Given the description of an element on the screen output the (x, y) to click on. 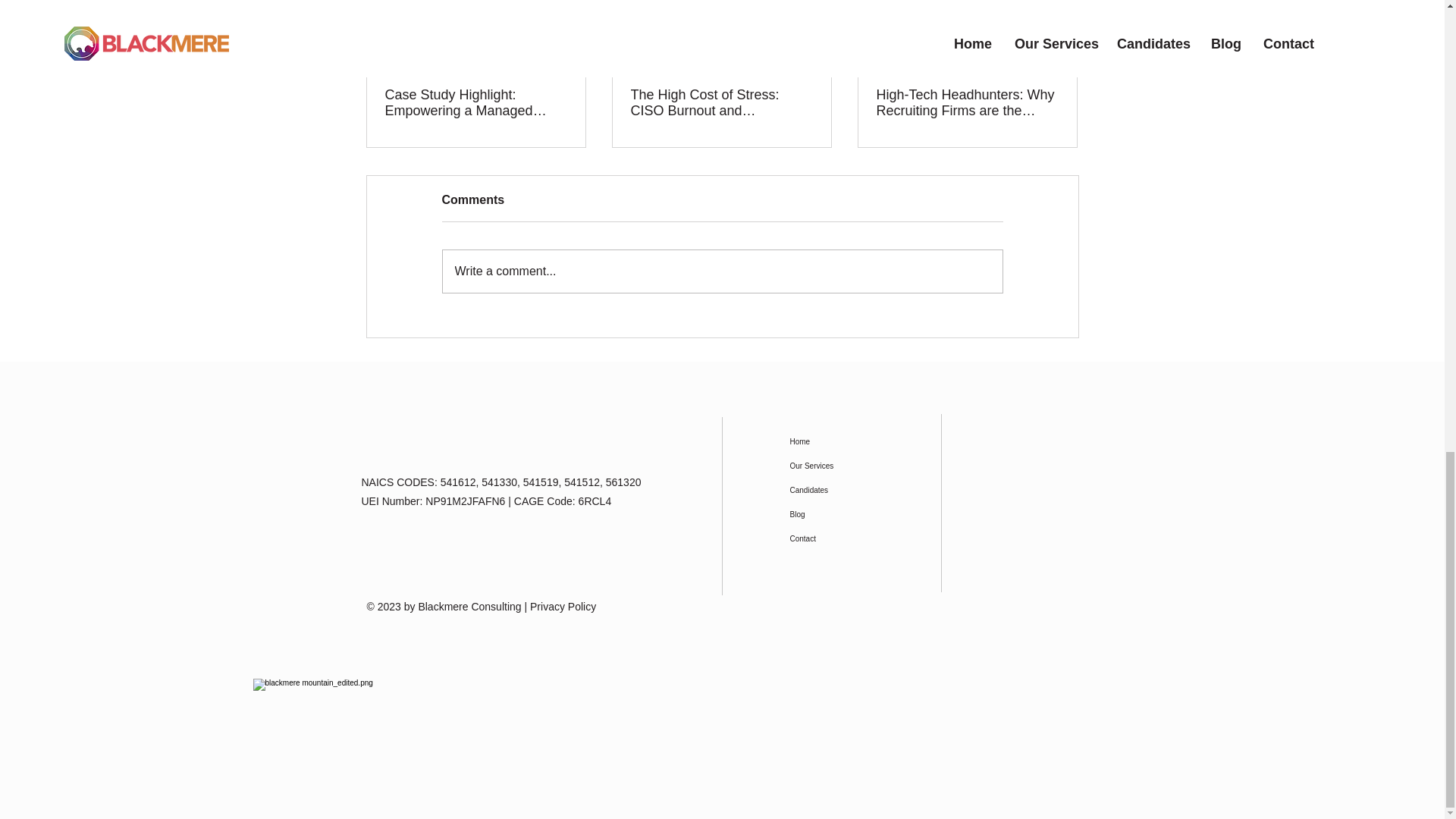
Privacy Policy (562, 605)
The High Cost of Stress: CISO Burnout and Resignation (721, 102)
Blog (828, 514)
Candidates (828, 490)
Write a comment... (722, 270)
Home (828, 441)
Our Services (828, 466)
Contact (828, 539)
